Given the description of an element on the screen output the (x, y) to click on. 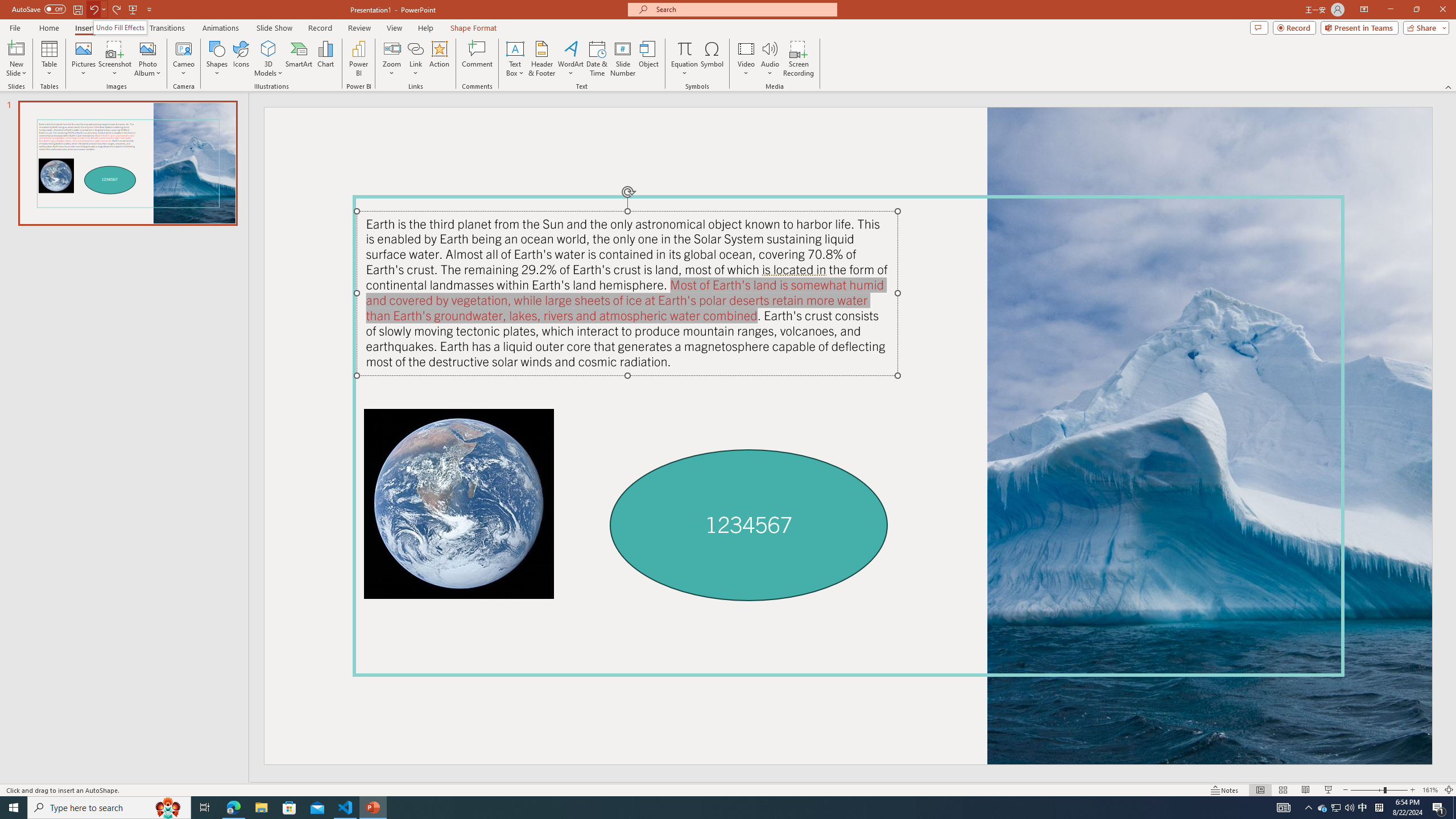
Date & Time... (596, 58)
WordArt (570, 58)
Table (49, 58)
Power BI (358, 58)
